Given the description of an element on the screen output the (x, y) to click on. 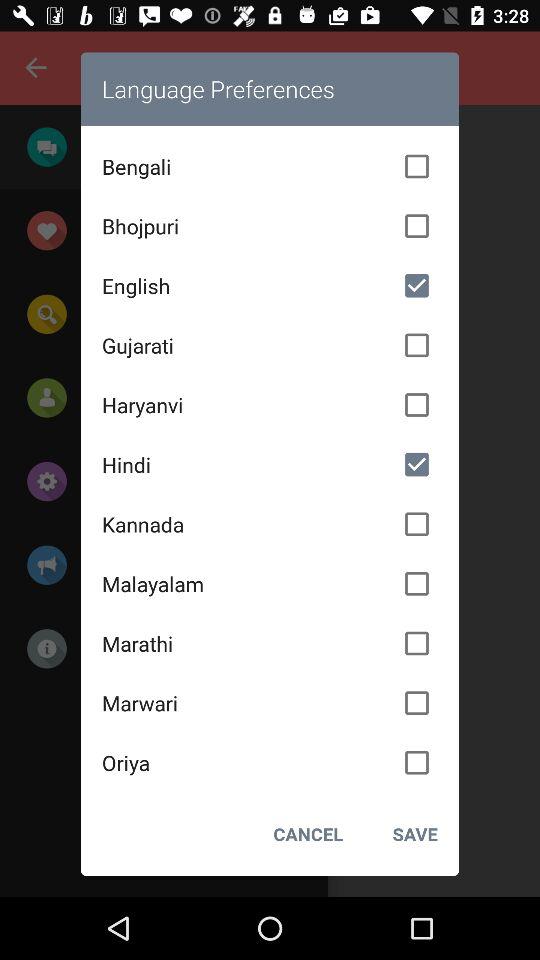
launch the kannada icon (270, 524)
